Given the description of an element on the screen output the (x, y) to click on. 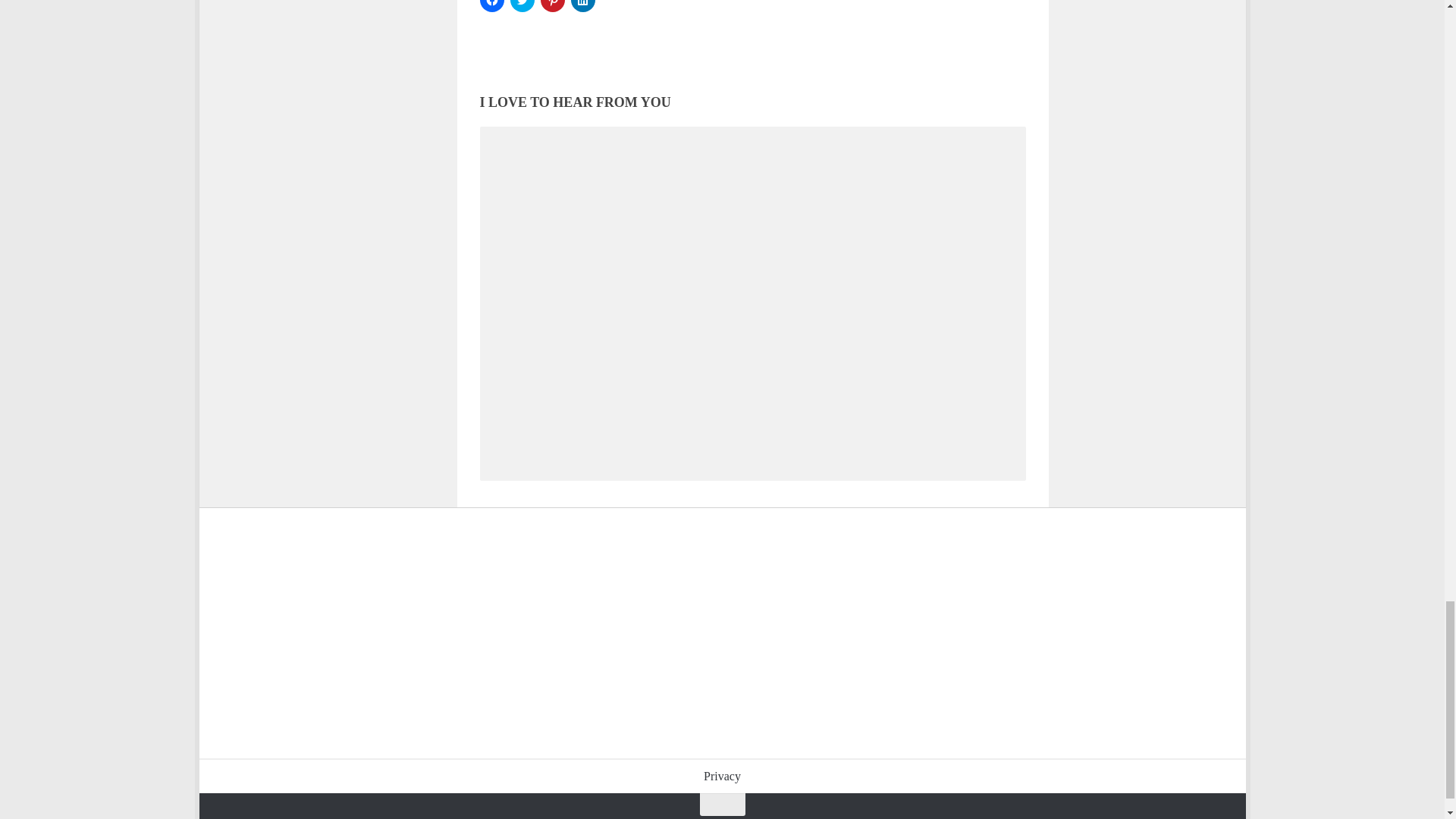
Click to share on Twitter (521, 6)
Click to share on LinkedIn (582, 6)
Click to share on Pinterest (552, 6)
Click to share on Facebook (491, 6)
Privacy (722, 776)
